Given the description of an element on the screen output the (x, y) to click on. 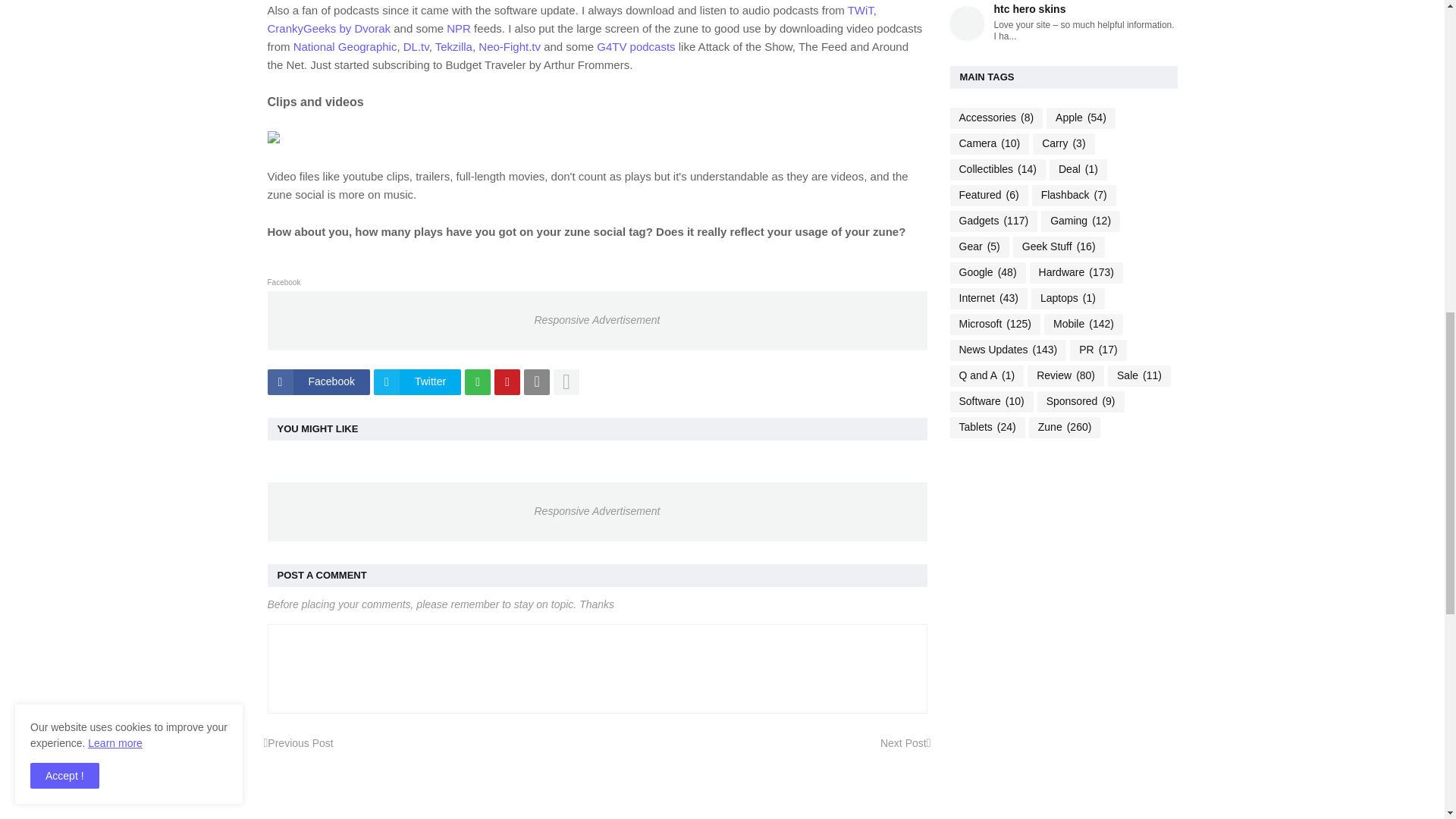
National Geographic (345, 46)
Show more (566, 381)
Tekzilla (453, 46)
Twitter (417, 381)
CrankyGeeks by Dvorak (328, 28)
Twitter (417, 381)
Neo-Fight.tv (509, 46)
Facebook (317, 381)
TWiT (860, 10)
G4TV podcasts (635, 46)
Email (537, 381)
Responsive Advertisement (596, 320)
DL.tv (416, 46)
Facebook (317, 381)
NPR (458, 28)
